Given the description of an element on the screen output the (x, y) to click on. 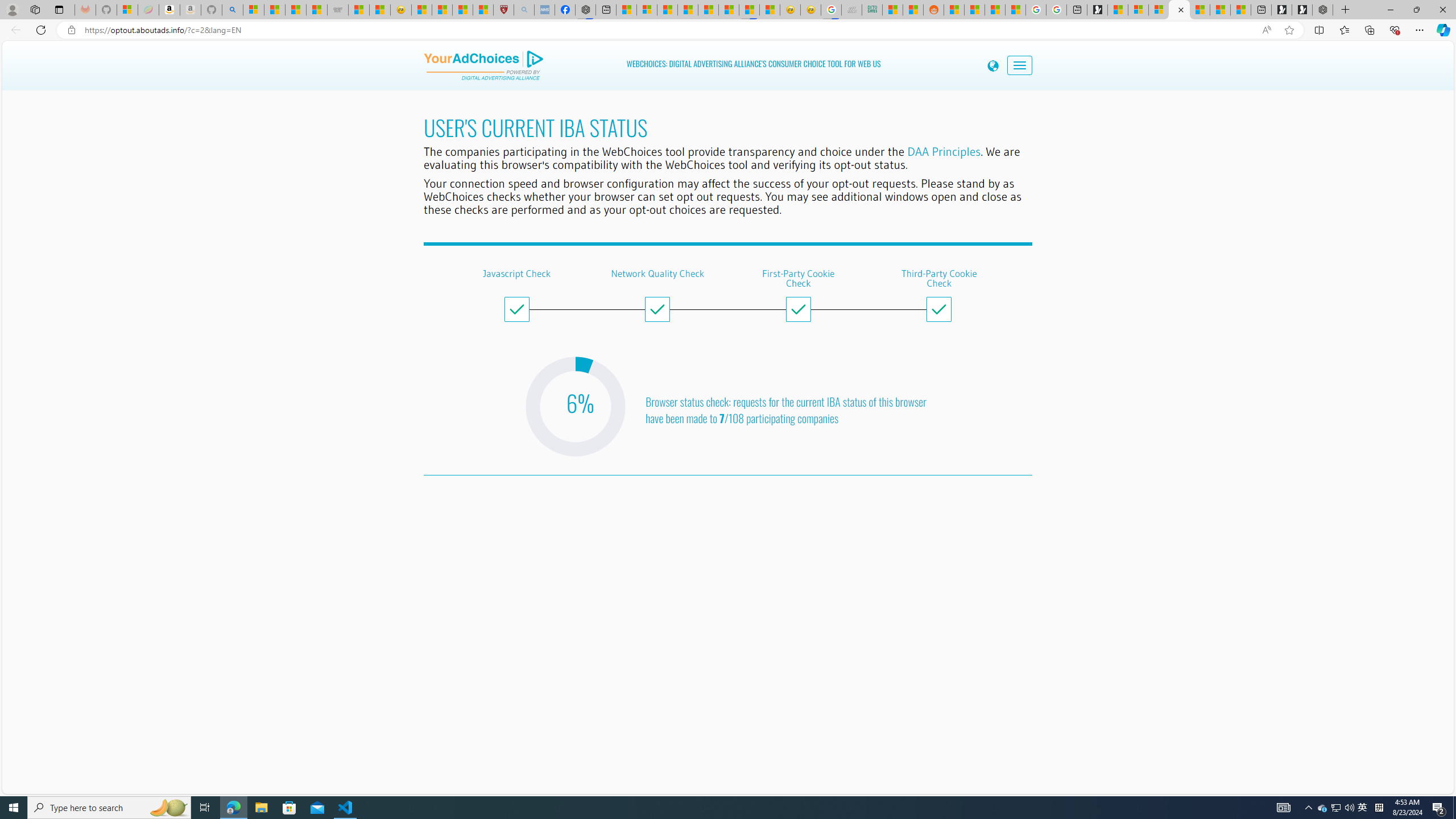
Toggle navigation (1009, 62)
Class: icon icon-check (938, 309)
Combat Siege (337, 9)
Recipes - MSN (421, 9)
Nordace - Nordace Siena Is Not An Ordinary Backpack (1322, 9)
DAA Logo (483, 65)
DAA Logo (482, 65)
